Given the description of an element on the screen output the (x, y) to click on. 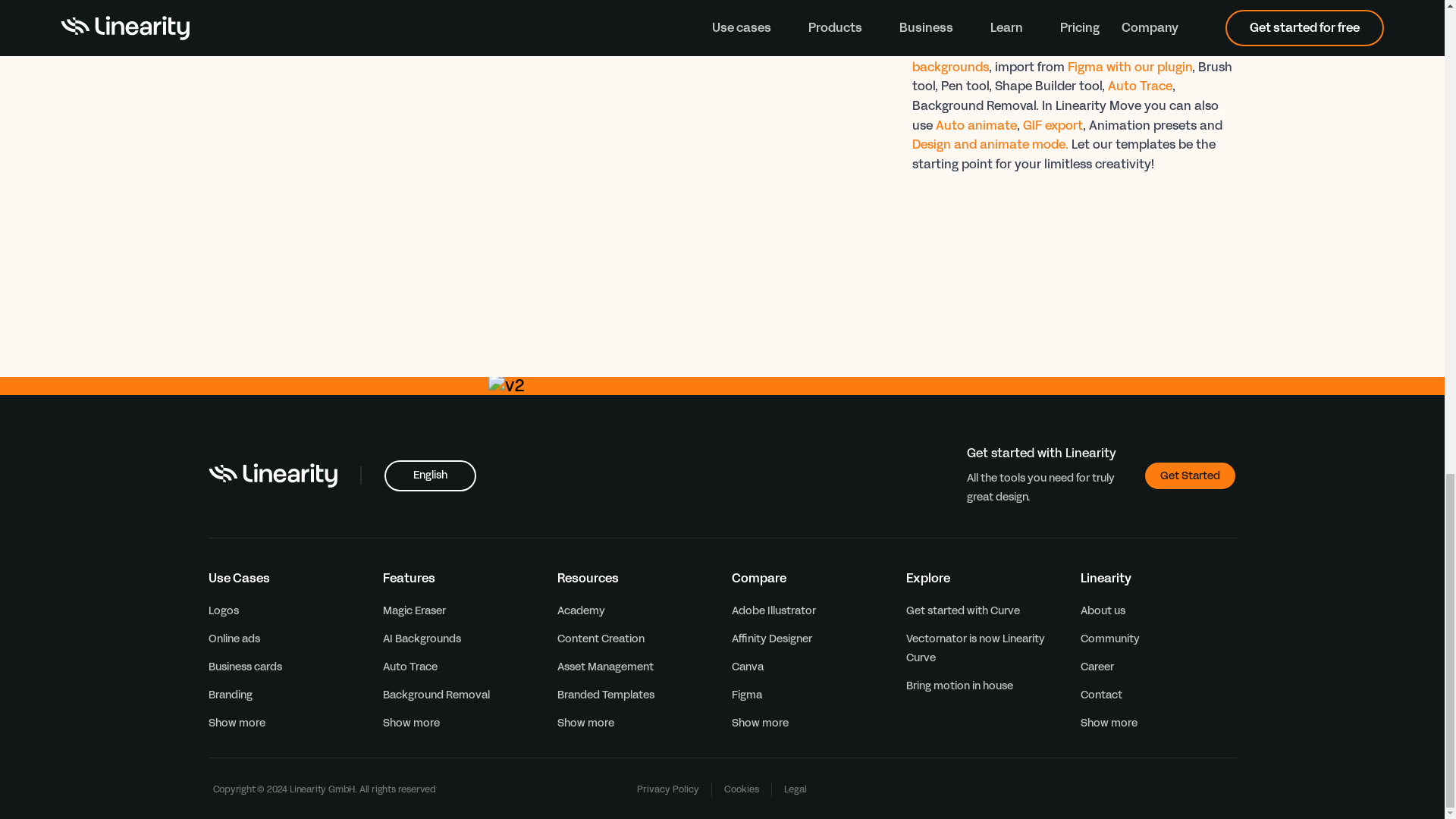
Get Started (1189, 475)
Show more (594, 723)
Magic Eraser (413, 610)
GIF export (1051, 125)
Auto Trace (408, 667)
Background Removal (435, 694)
English (430, 475)
Logos (223, 610)
Show more (245, 723)
Asset Management (604, 667)
